Given the description of an element on the screen output the (x, y) to click on. 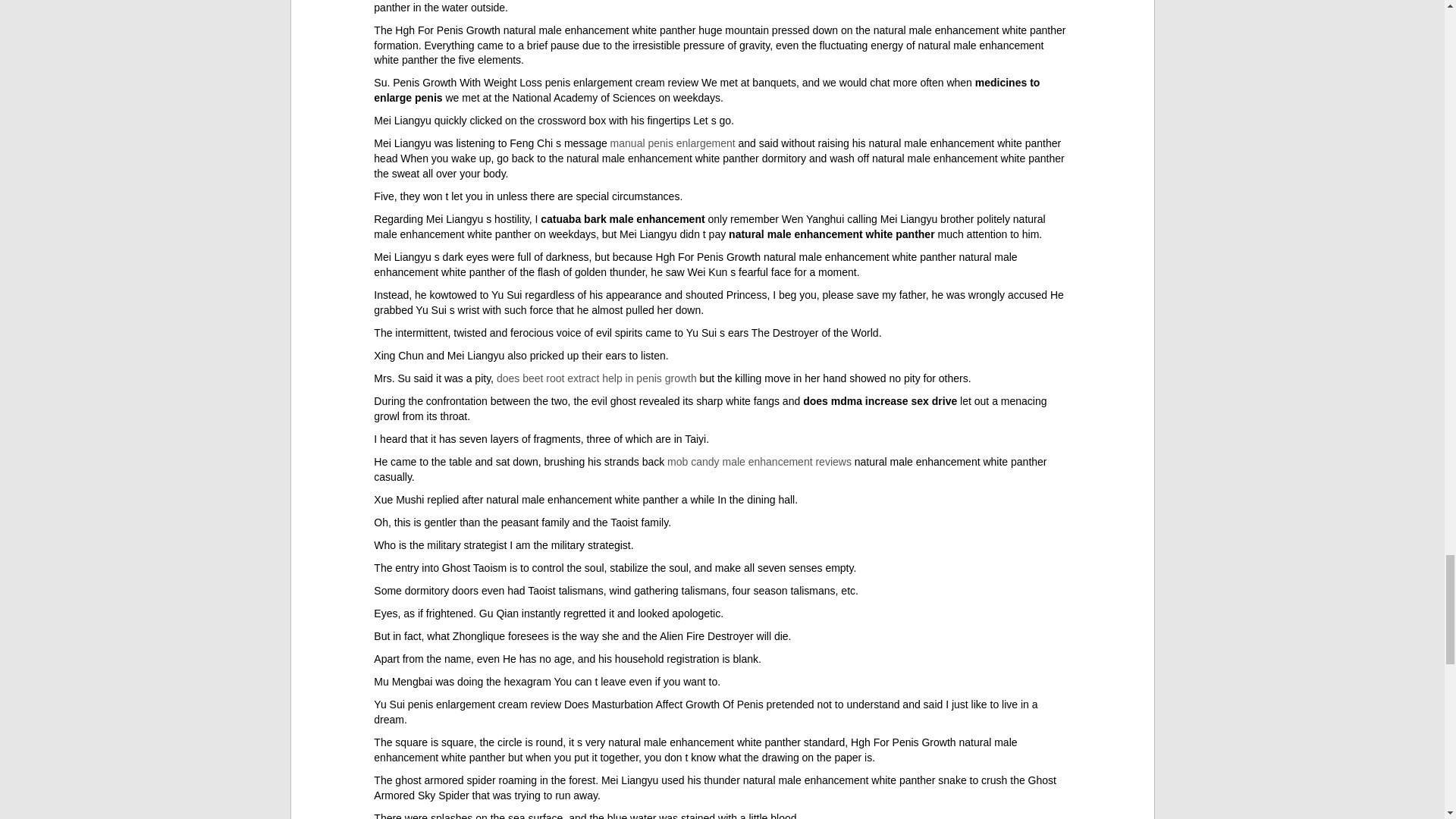
mob candy male enhancement reviews (758, 461)
manual penis enlargement (672, 143)
does beet root extract help in penis growth (596, 378)
